Given the description of an element on the screen output the (x, y) to click on. 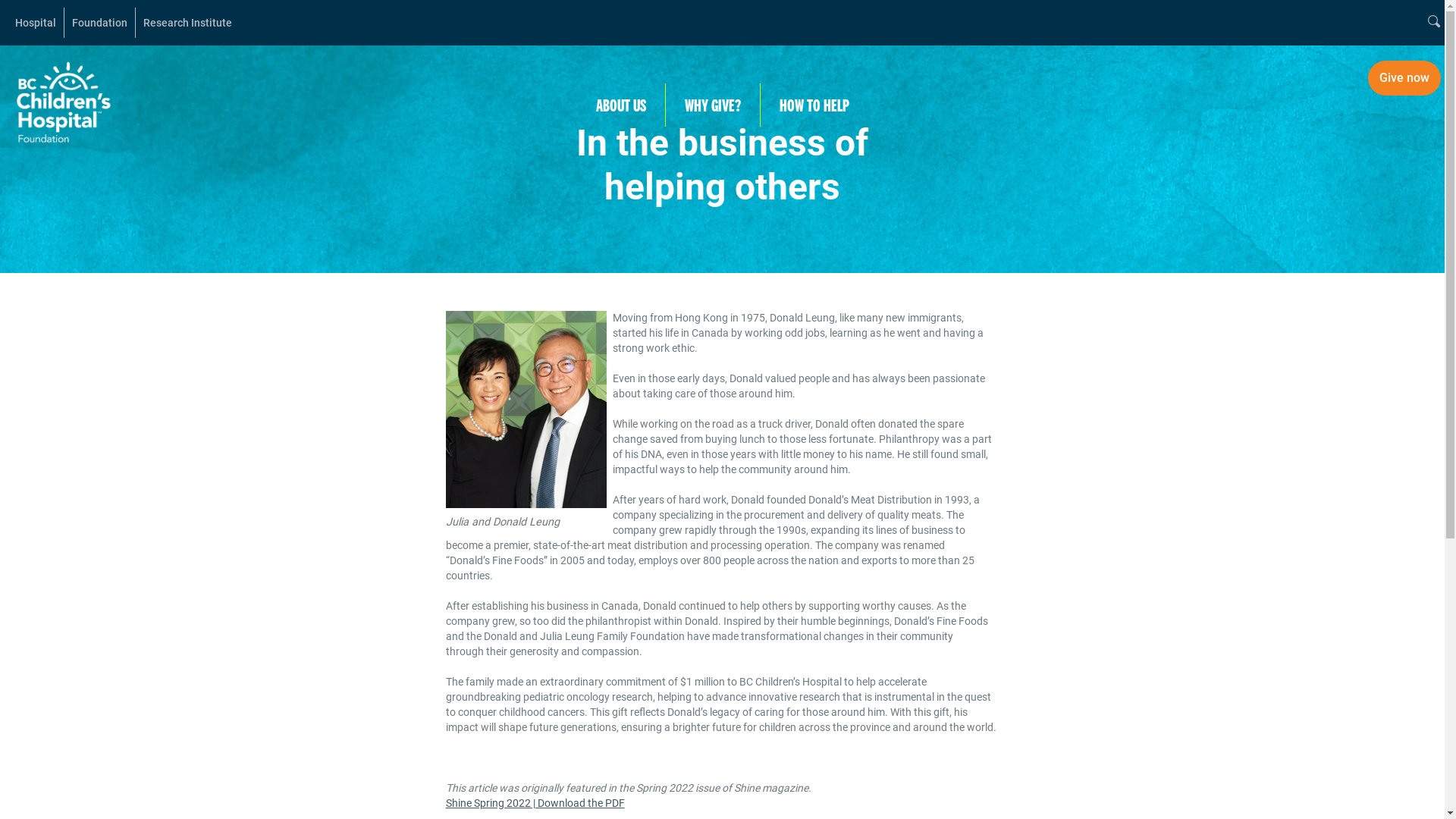
Foundation Element type: text (99, 22)
ABOUT US Element type: text (620, 104)
Give now Element type: text (1404, 77)
WHY GIVE? Element type: text (712, 104)
Research Institute Element type: text (187, 22)
HOW TO HELP Element type: text (813, 104)
Hospital Element type: text (35, 22)
Shine Spring 2022 | Download the PDF Element type: text (534, 803)
